Given the description of an element on the screen output the (x, y) to click on. 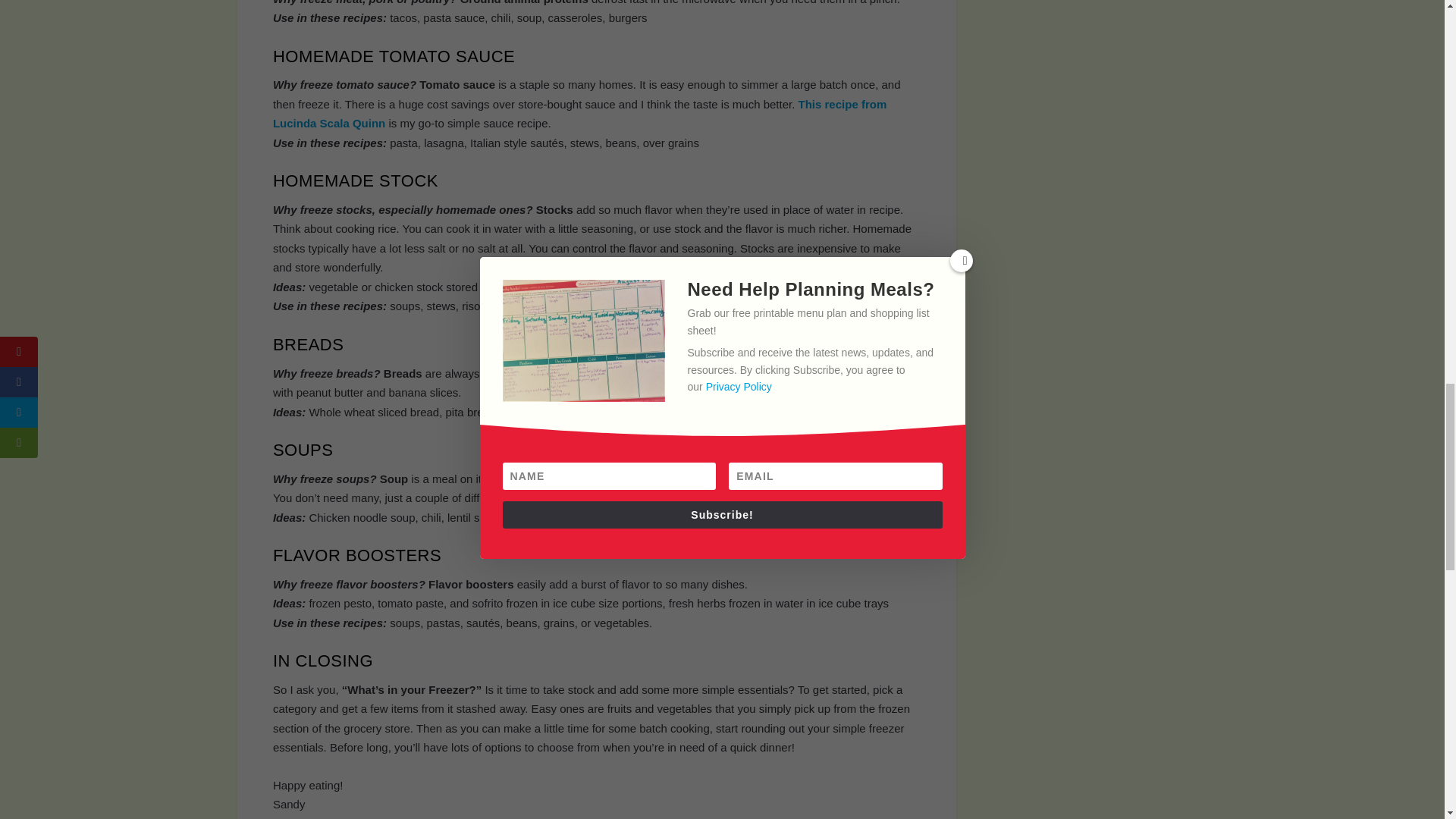
This recipe from Lucinda Scala Quinn (579, 113)
vinaigrette (670, 478)
